Given the description of an element on the screen output the (x, y) to click on. 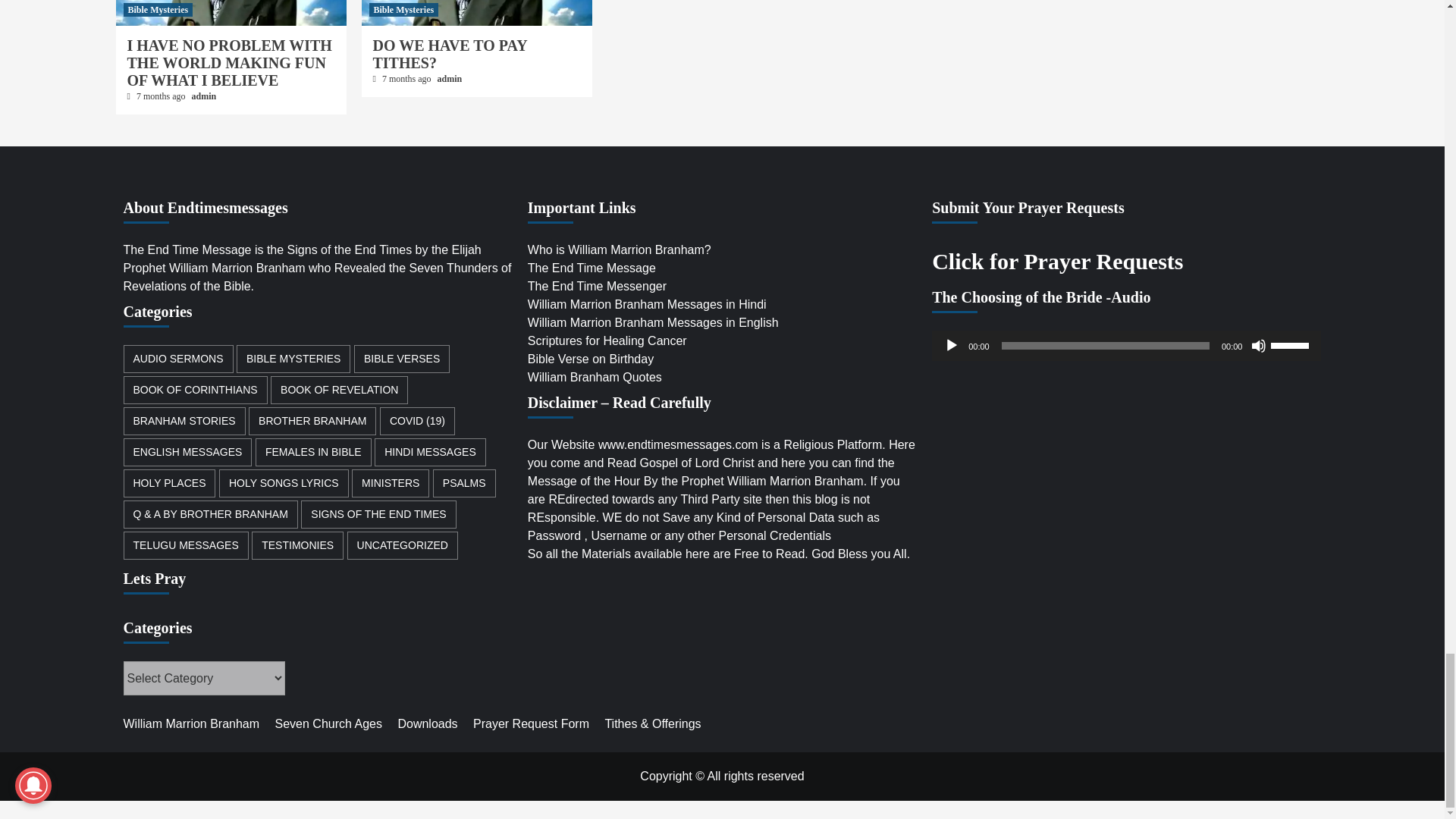
Play (951, 345)
Mute (1258, 345)
